Given the description of an element on the screen output the (x, y) to click on. 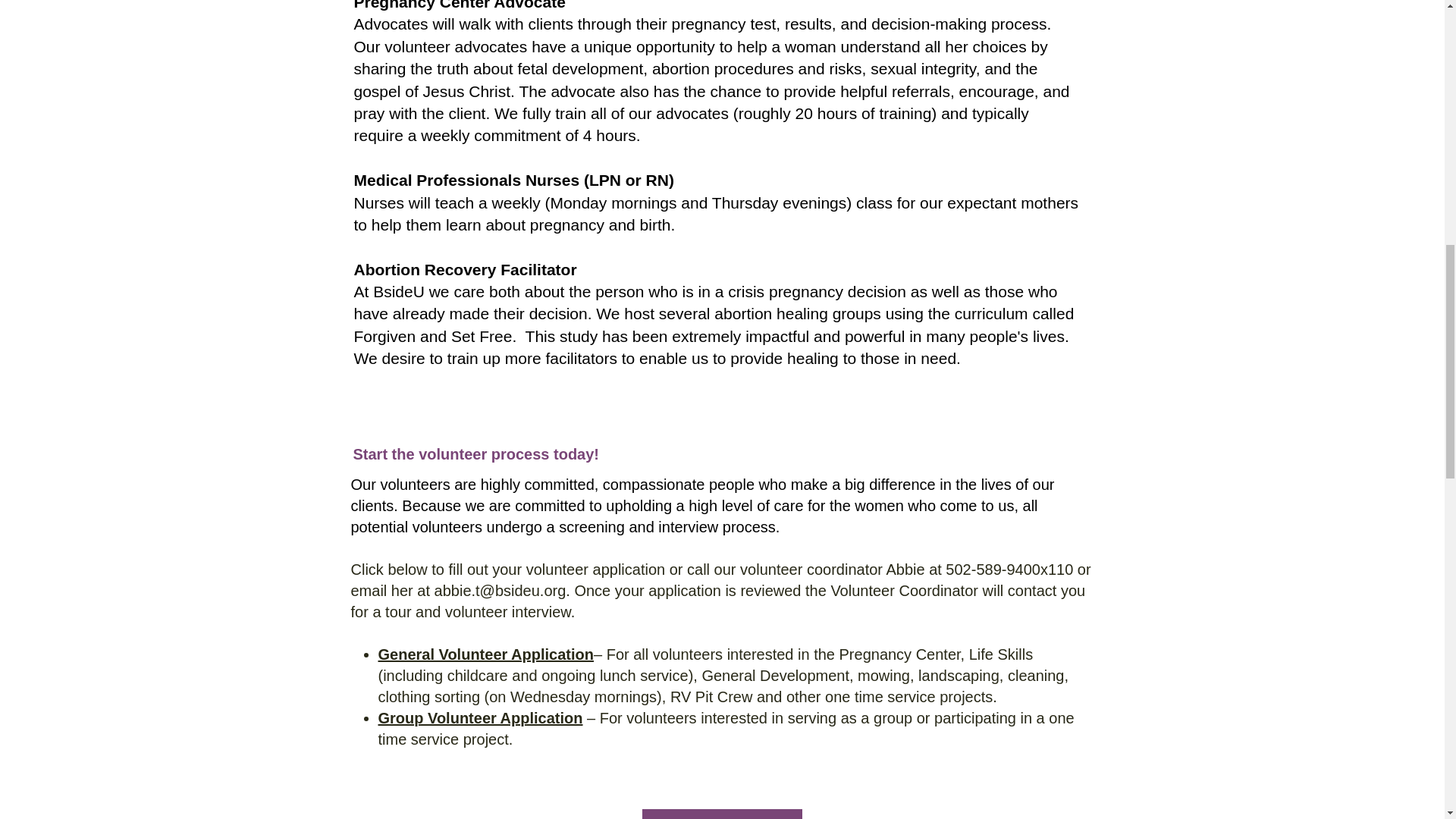
Get in Touch (722, 814)
Group Volunteer Application (479, 718)
General Volunteer Application (485, 654)
